Given the description of an element on the screen output the (x, y) to click on. 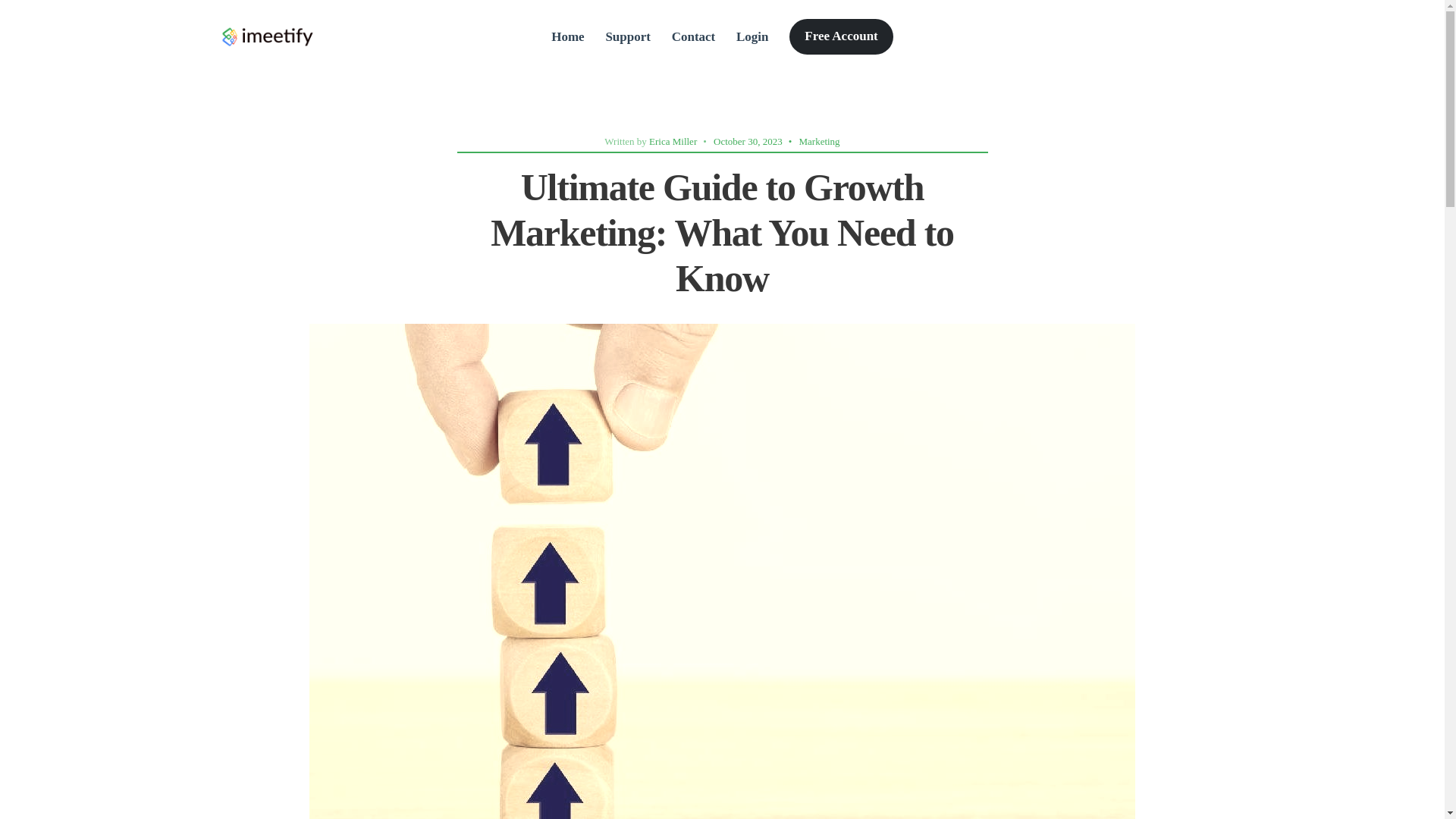
Marketing (818, 141)
Erica Miller (673, 141)
Login (752, 36)
Posts by Erica Miller (673, 141)
Free Account (840, 36)
Support (627, 36)
Home (567, 36)
Contact (693, 36)
